Given the description of an element on the screen output the (x, y) to click on. 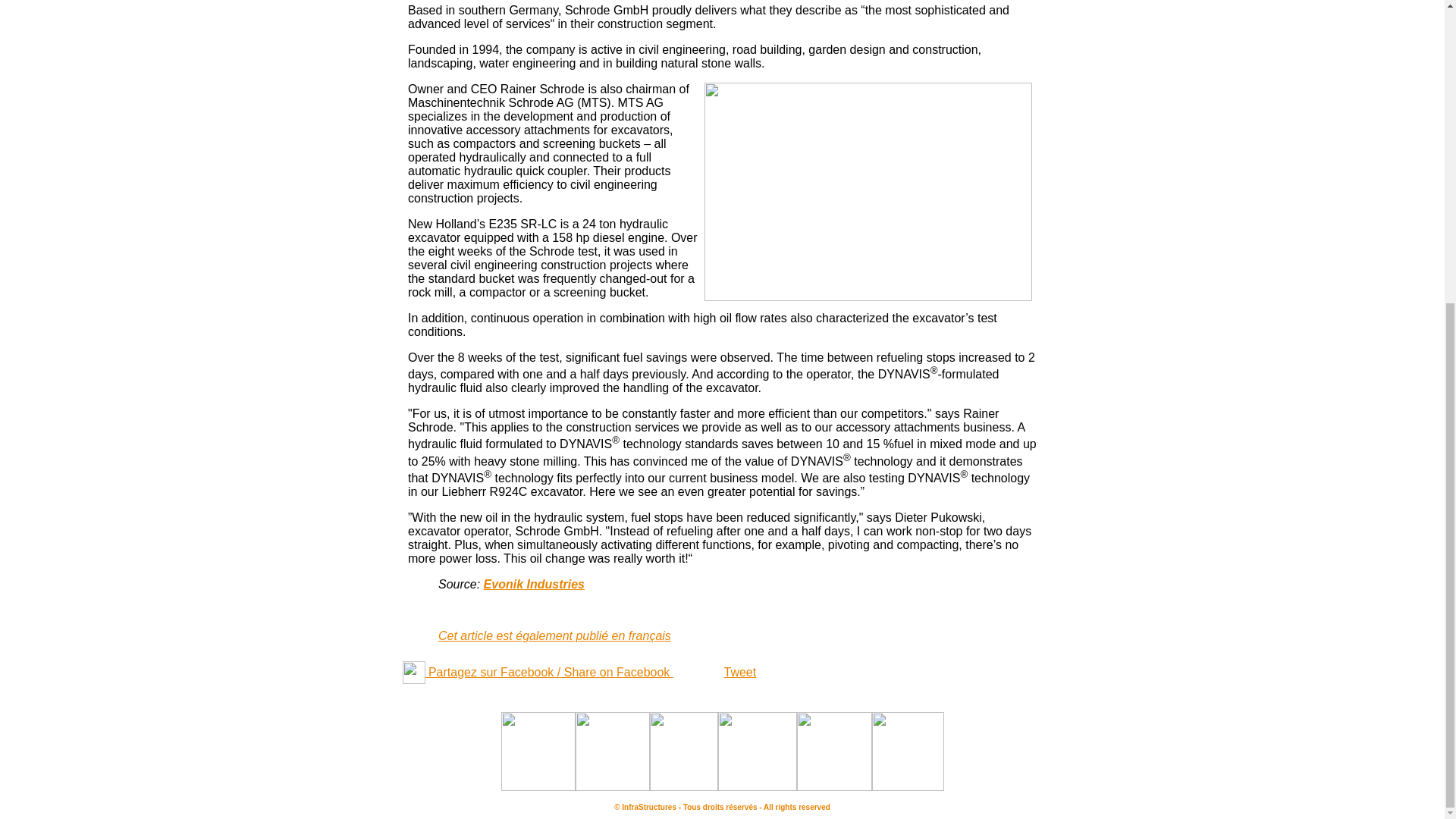
Evonik Industries (534, 584)
Tweet (739, 671)
